Given the description of an element on the screen output the (x, y) to click on. 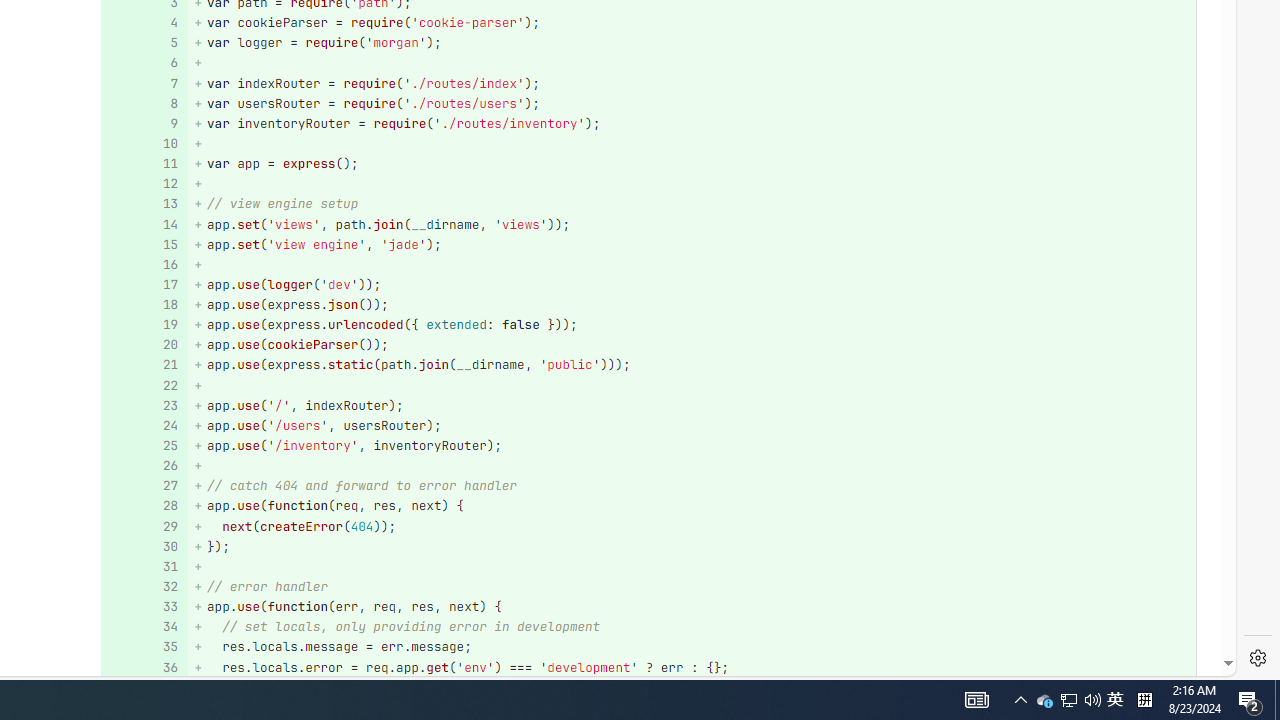
Add a comment to this line 24 (144, 425)
+ app.set('view engine', 'jade');  (691, 244)
Add a comment to this line 12 (144, 184)
+ var inventoryRouter = require('./routes/inventory');  (691, 123)
Add a comment to this line 15 (144, 244)
Add a comment to this line 36 (144, 667)
Add a comment to this line 35 (144, 647)
Add a comment to this line 30 (144, 546)
+ var app = express();  (691, 164)
Add a comment to this line 32 (144, 587)
8 (141, 102)
+ app.use(cookieParser());  (691, 344)
33 (141, 606)
+ next(createError(404));  (691, 526)
